Given the description of an element on the screen output the (x, y) to click on. 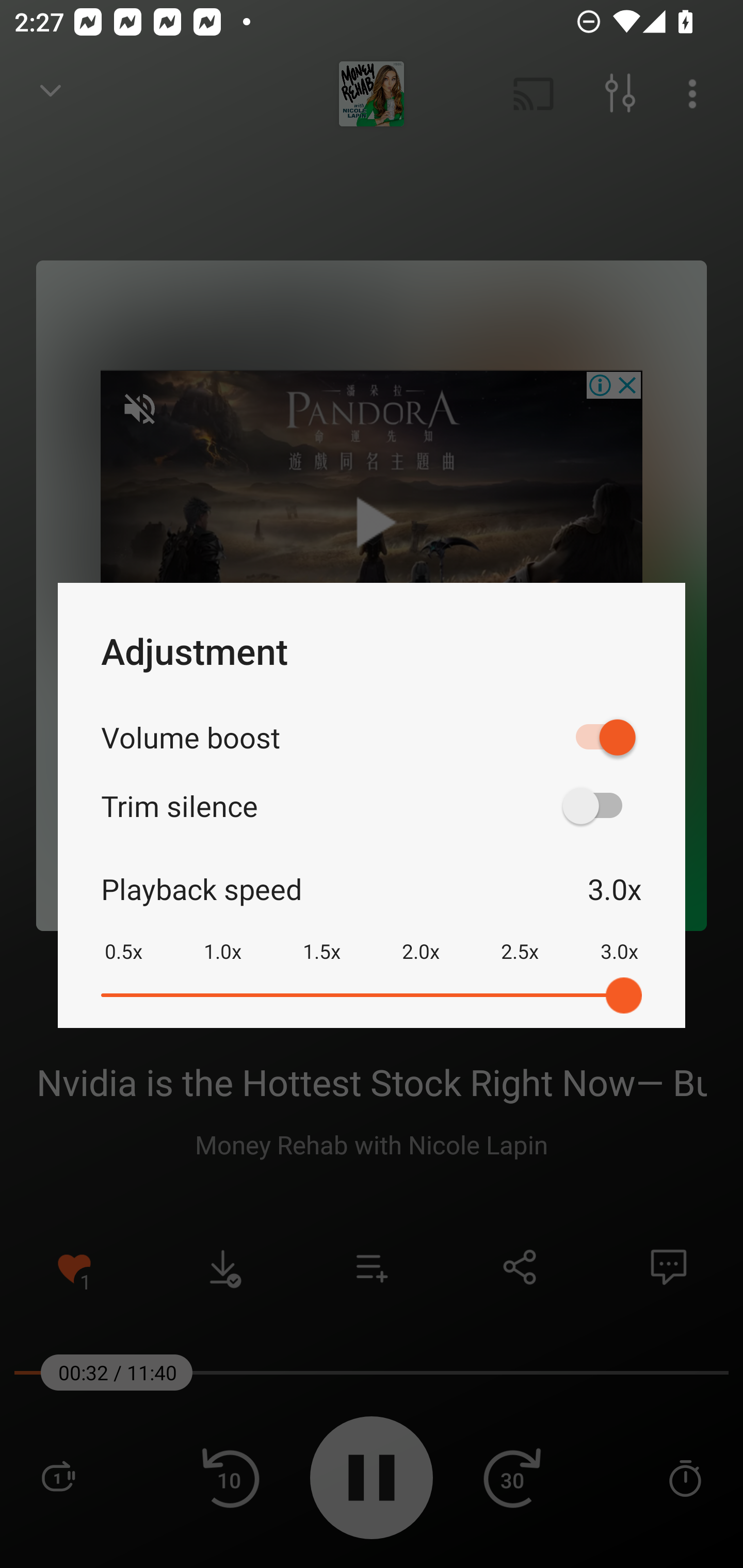
0.5x (123, 937)
1.0x (222, 937)
1.5x (321, 937)
2.0x (420, 937)
2.5x (519, 937)
3.0x (618, 937)
